Given the description of an element on the screen output the (x, y) to click on. 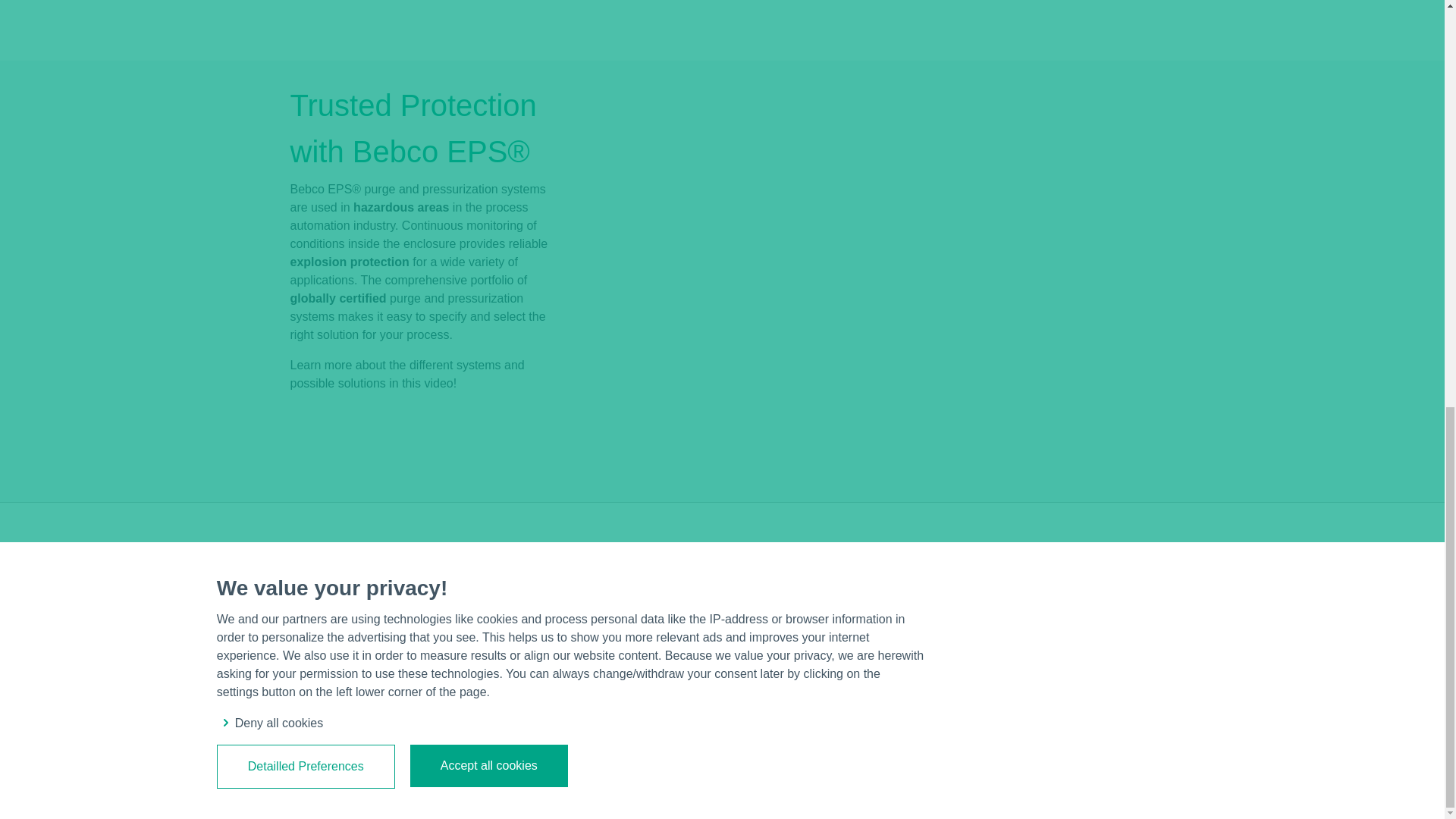
E-News (1076, 780)
Sitemap (796, 672)
Contact (796, 648)
Blog (1123, 780)
Disclaimer (796, 599)
YouTube (1100, 780)
Legal Notice (796, 575)
Privacy Policy (796, 624)
link-title (377, 563)
